Given the description of an element on the screen output the (x, y) to click on. 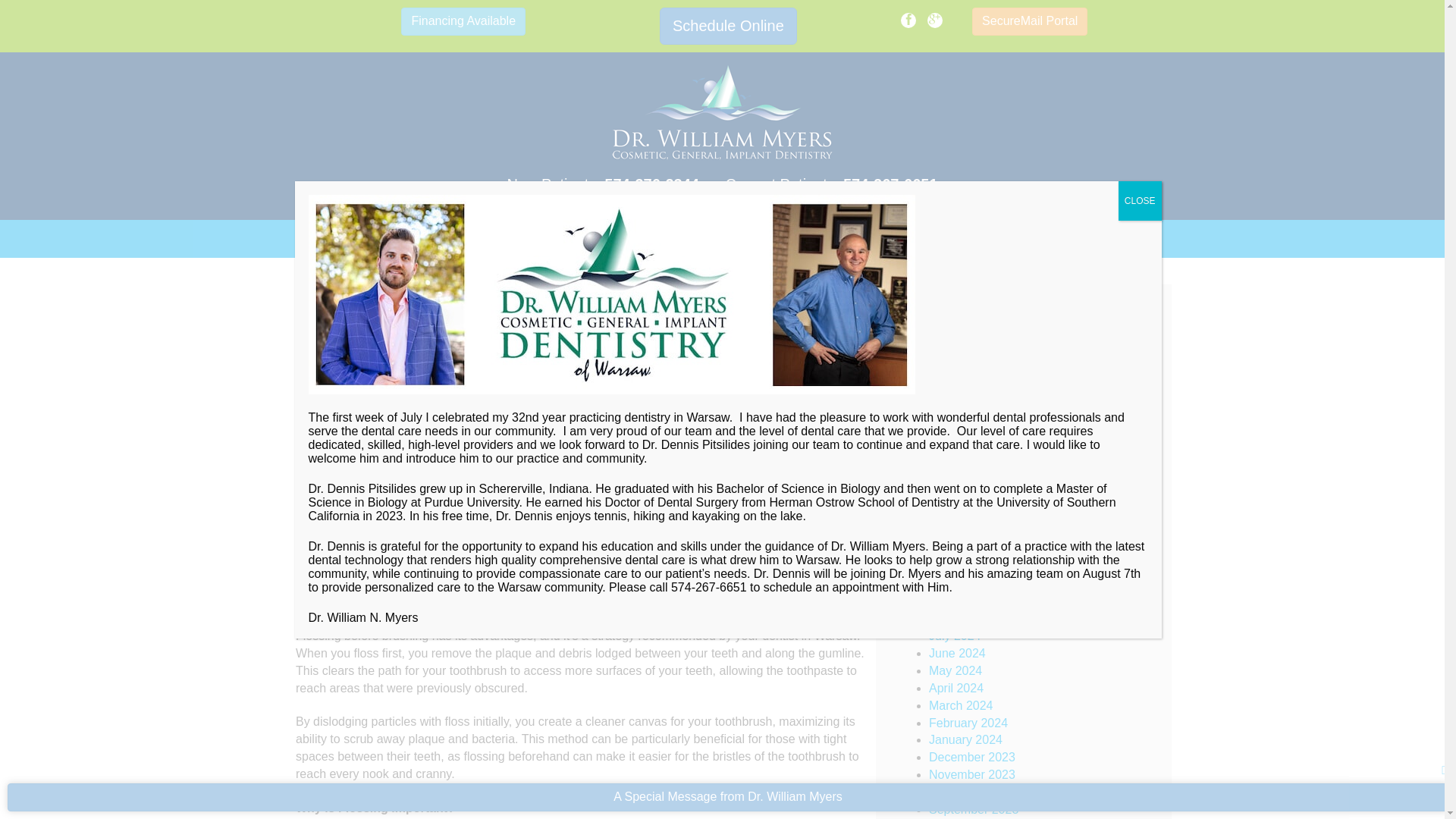
ORAL HEALTH (513, 329)
DENTAL HYGIENE (585, 329)
Contact Us (1023, 238)
Smile Gallery (919, 238)
Reviews (495, 238)
Blog (1099, 238)
Promotions (585, 238)
mouthguards (963, 458)
Dental Services (385, 238)
New Patients (690, 238)
General Dental Articles (990, 423)
Dental Implant (967, 406)
Dental Services (385, 238)
Dental Emergency (978, 371)
Blog (1099, 238)
